Given the description of an element on the screen output the (x, y) to click on. 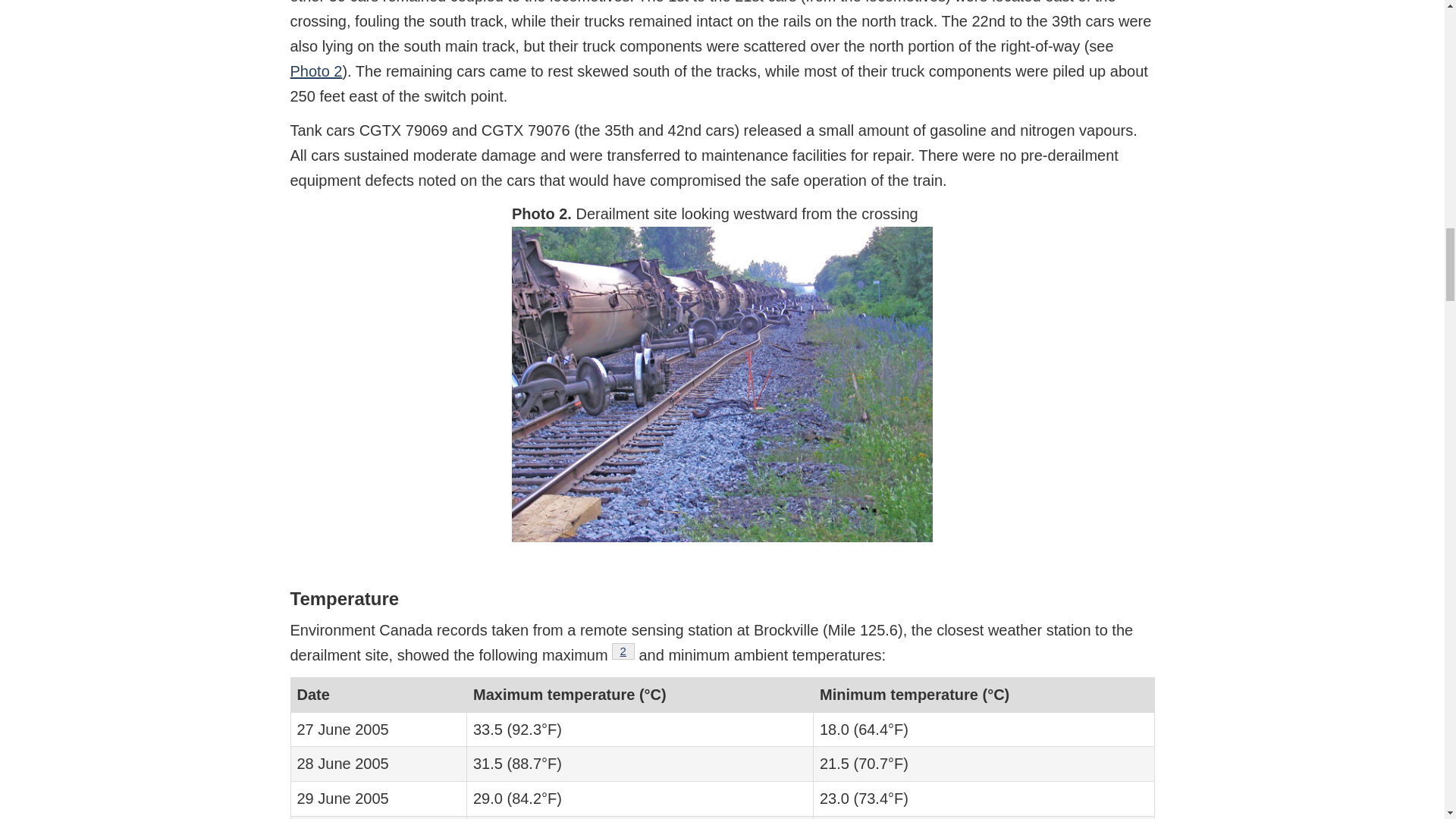
Photo 2. Derailment site looking westward from the crossing (722, 384)
Photo 2 (622, 651)
